Given the description of an element on the screen output the (x, y) to click on. 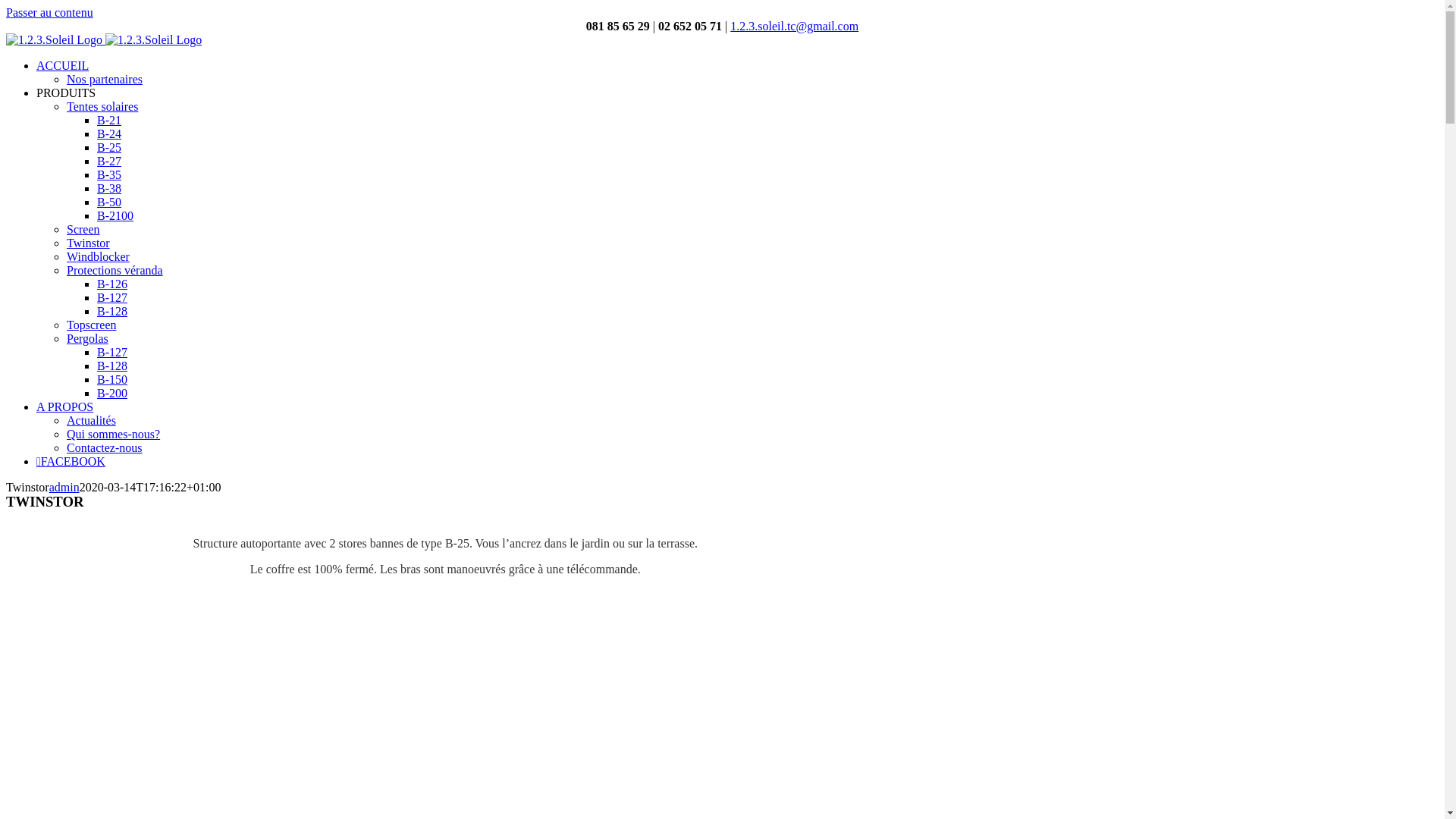
A PROPOS Element type: text (64, 406)
Screen Element type: text (83, 228)
Qui sommes-nous? Element type: text (113, 433)
B-150 Element type: text (112, 379)
B-38 Element type: text (109, 188)
1.2.3.soleil.tc@gmail.com Element type: text (794, 25)
B-2100 Element type: text (115, 215)
ACCUEIL Element type: text (62, 65)
Nos partenaires Element type: text (104, 78)
B-50 Element type: text (109, 201)
B-128 Element type: text (112, 365)
Topscreen Element type: text (91, 324)
B-25 Element type: text (109, 147)
B-128 Element type: text (112, 310)
admin Element type: text (64, 486)
B-24 Element type: text (109, 133)
B-35 Element type: text (109, 174)
Windblocker Element type: text (97, 256)
Twinstor Element type: text (87, 242)
PRODUITS Element type: text (65, 92)
B-126 Element type: text (112, 283)
Tentes solaires Element type: text (102, 106)
B-21 Element type: text (109, 119)
B-200 Element type: text (112, 392)
B-27 Element type: text (109, 160)
Pergolas Element type: text (87, 338)
FACEBOOK Element type: text (70, 461)
Contactez-nous Element type: text (104, 447)
B-127 Element type: text (112, 351)
Passer au contenu Element type: text (49, 12)
B-127 Element type: text (112, 297)
